Given the description of an element on the screen output the (x, y) to click on. 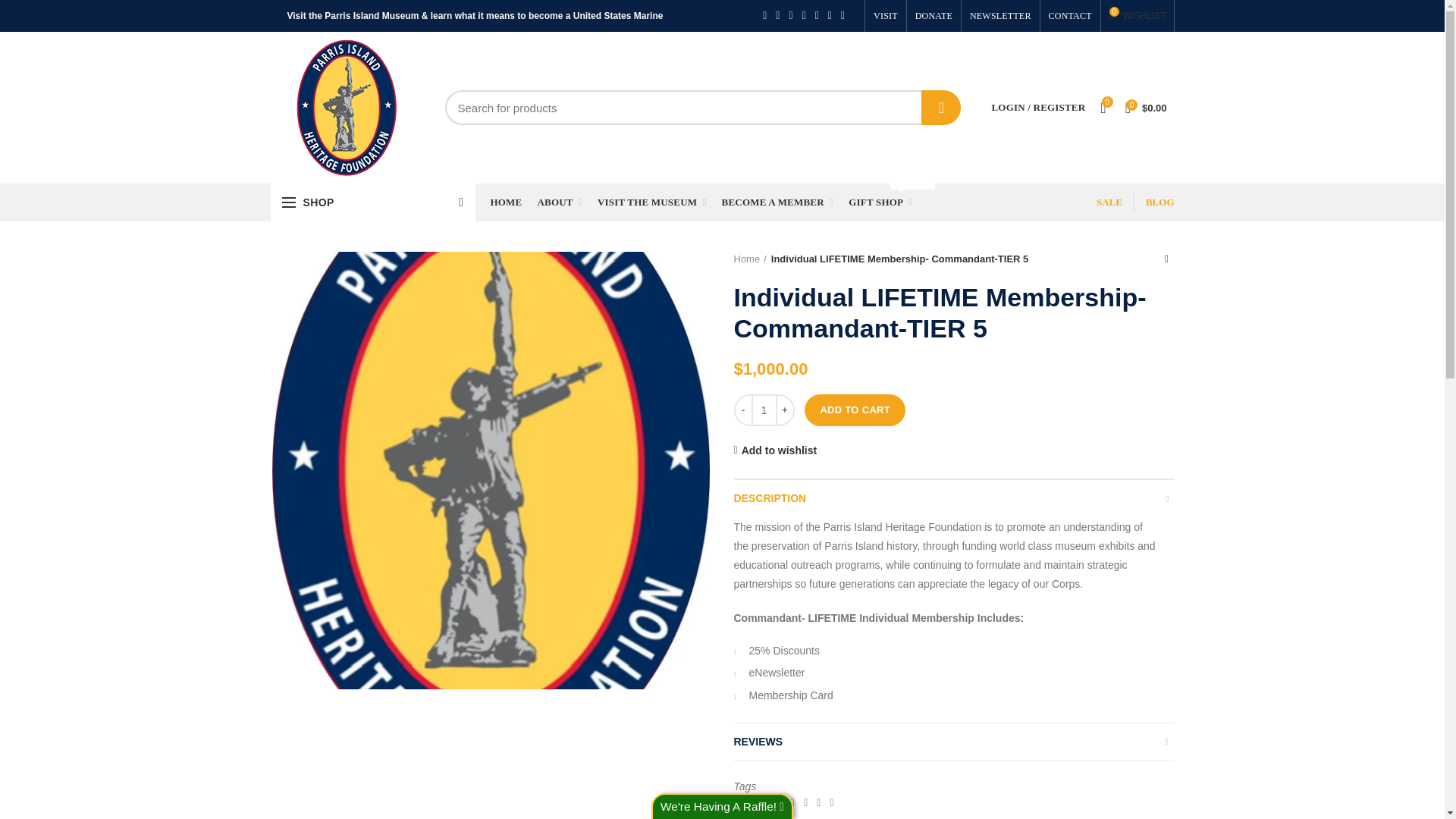
Add to wishlist (774, 450)
Back to the frontpage (750, 258)
CONTACT (1070, 15)
NEWSLETTER (999, 15)
VISIT (884, 15)
SEARCH (1136, 15)
DONATE (940, 107)
